Given the description of an element on the screen output the (x, y) to click on. 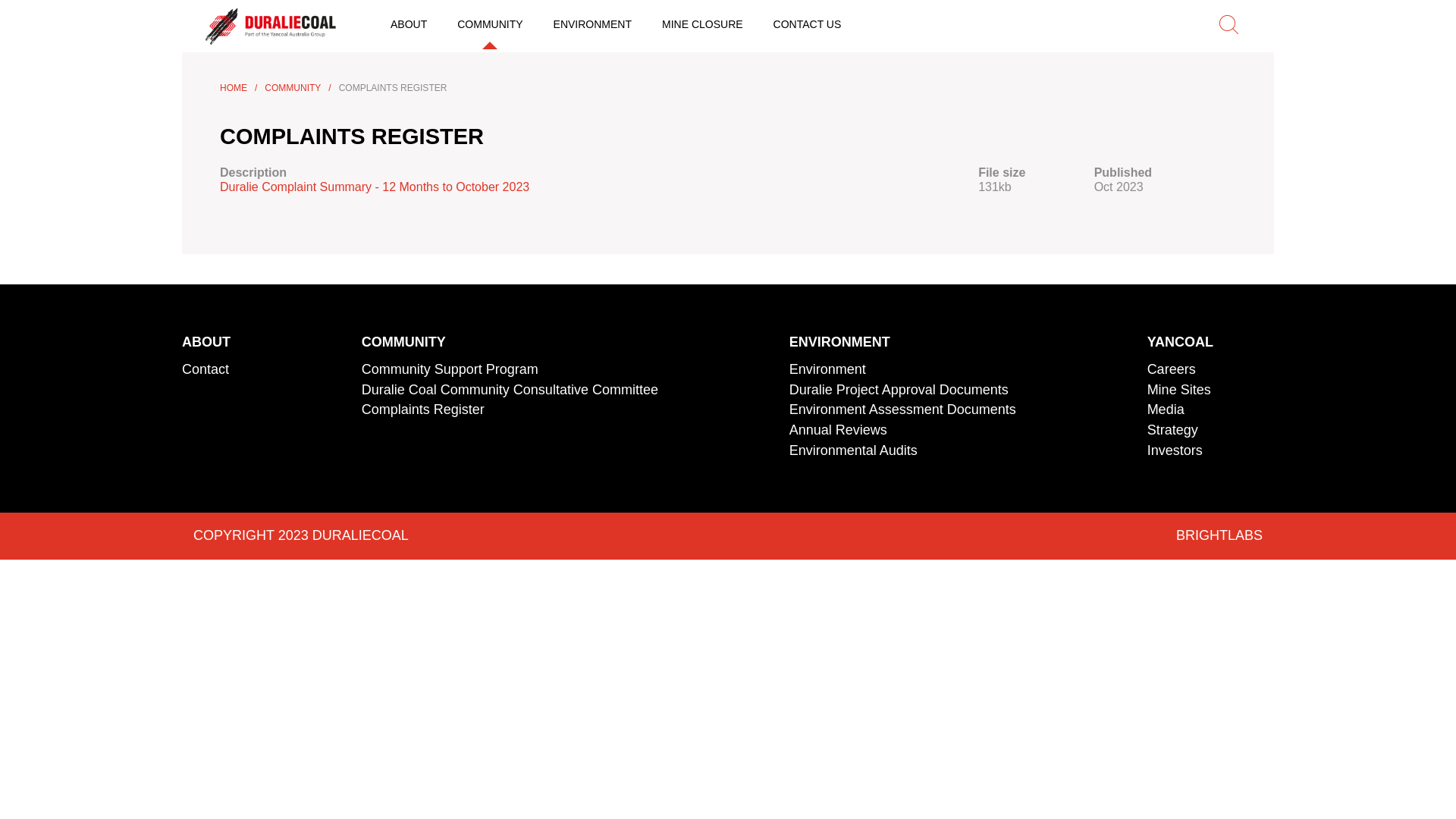
Community Support Program Element type: text (449, 368)
CONTACT US Element type: text (807, 24)
Contact Element type: text (205, 368)
COMMUNITY Element type: text (489, 24)
Strategy Element type: text (1172, 429)
Duralie Coal Community Consultative Committee Element type: text (509, 389)
Duralie Complaint Summary - 12 Months to October 2023 Element type: text (374, 186)
Environmental Audits Element type: text (853, 450)
ABOUT Element type: text (206, 341)
Careers Element type: text (1171, 368)
ENVIRONMENT Element type: text (592, 24)
Environment Assessment Documents Element type: text (902, 409)
COMMUNITY Element type: text (292, 87)
Mine Sites Element type: text (1179, 389)
Environment Element type: text (827, 368)
ENVIRONMENT Element type: text (839, 341)
BRIGHTLABS Element type: text (1219, 534)
COMMUNITY Element type: text (403, 341)
MINE CLOSURE Element type: text (702, 24)
ABOUT Element type: text (408, 24)
Complaints Register Element type: text (422, 409)
Investors Element type: text (1174, 450)
Annual Reviews Element type: text (838, 429)
Duralie Project Approval Documents Element type: text (898, 389)
DURALIECOAL Element type: text (272, 26)
Media Element type: text (1165, 409)
HOME Element type: text (233, 87)
